Given the description of an element on the screen output the (x, y) to click on. 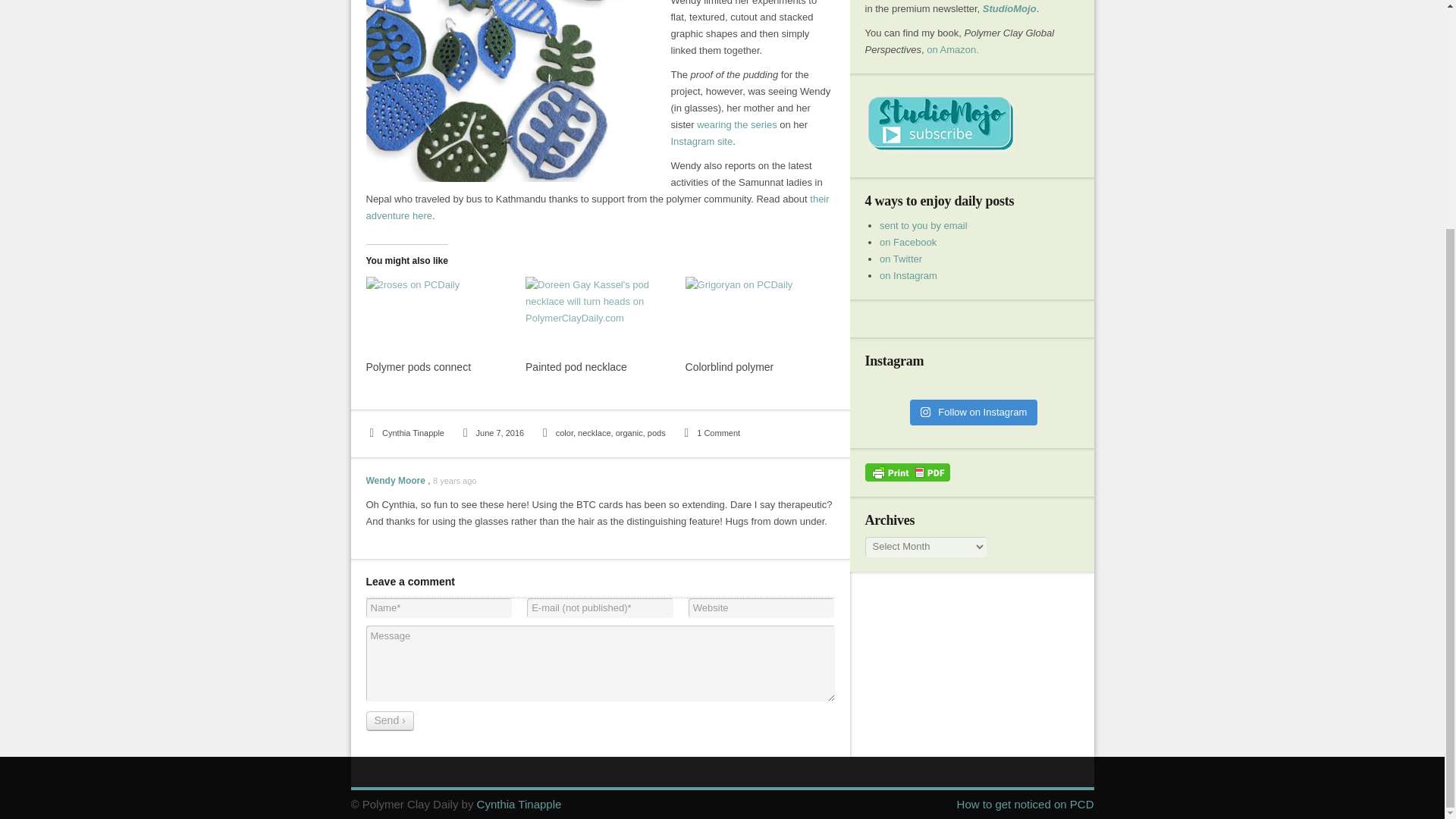
Painted pod necklace (576, 367)
June 7, 2016 (492, 432)
Colorblind polymer (729, 367)
Cynthia Tinapple (404, 432)
Cynthia Tinapple (404, 432)
Painted pod necklace (576, 367)
1 Comment (710, 432)
color (564, 432)
Painted pod necklace (597, 317)
View all posts from June (492, 432)
Polymer pods connect (417, 367)
Instagram site (700, 141)
necklace (594, 432)
their adventure here (596, 207)
Colorblind polymer (757, 317)
